Given the description of an element on the screen output the (x, y) to click on. 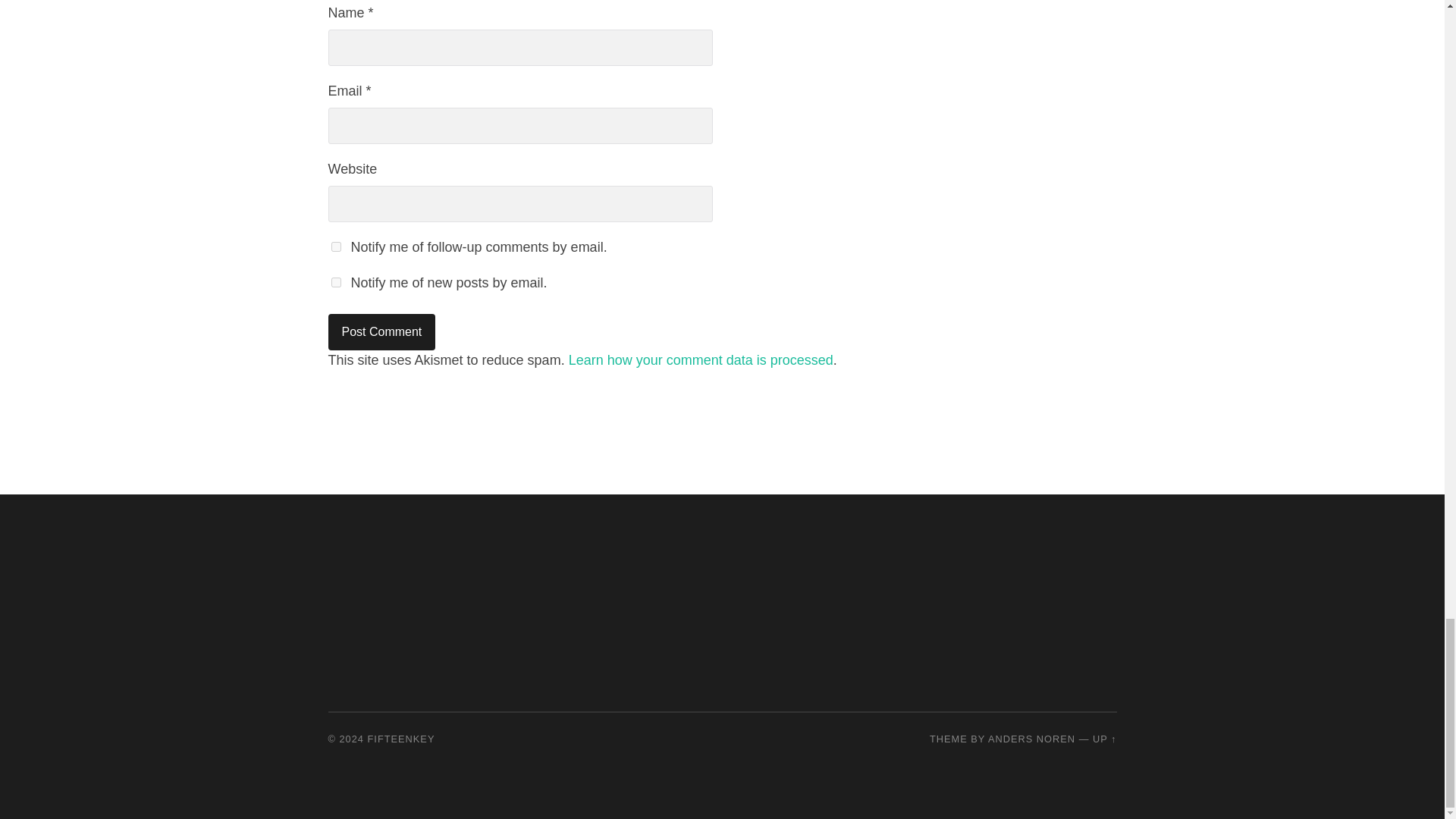
To the top (1104, 738)
subscribe (335, 246)
FIFTEENKEY (401, 738)
Post Comment (381, 331)
ANDERS NOREN (1031, 738)
Post Comment (381, 331)
Learn how your comment data is processed (700, 359)
subscribe (335, 282)
